Given the description of an element on the screen output the (x, y) to click on. 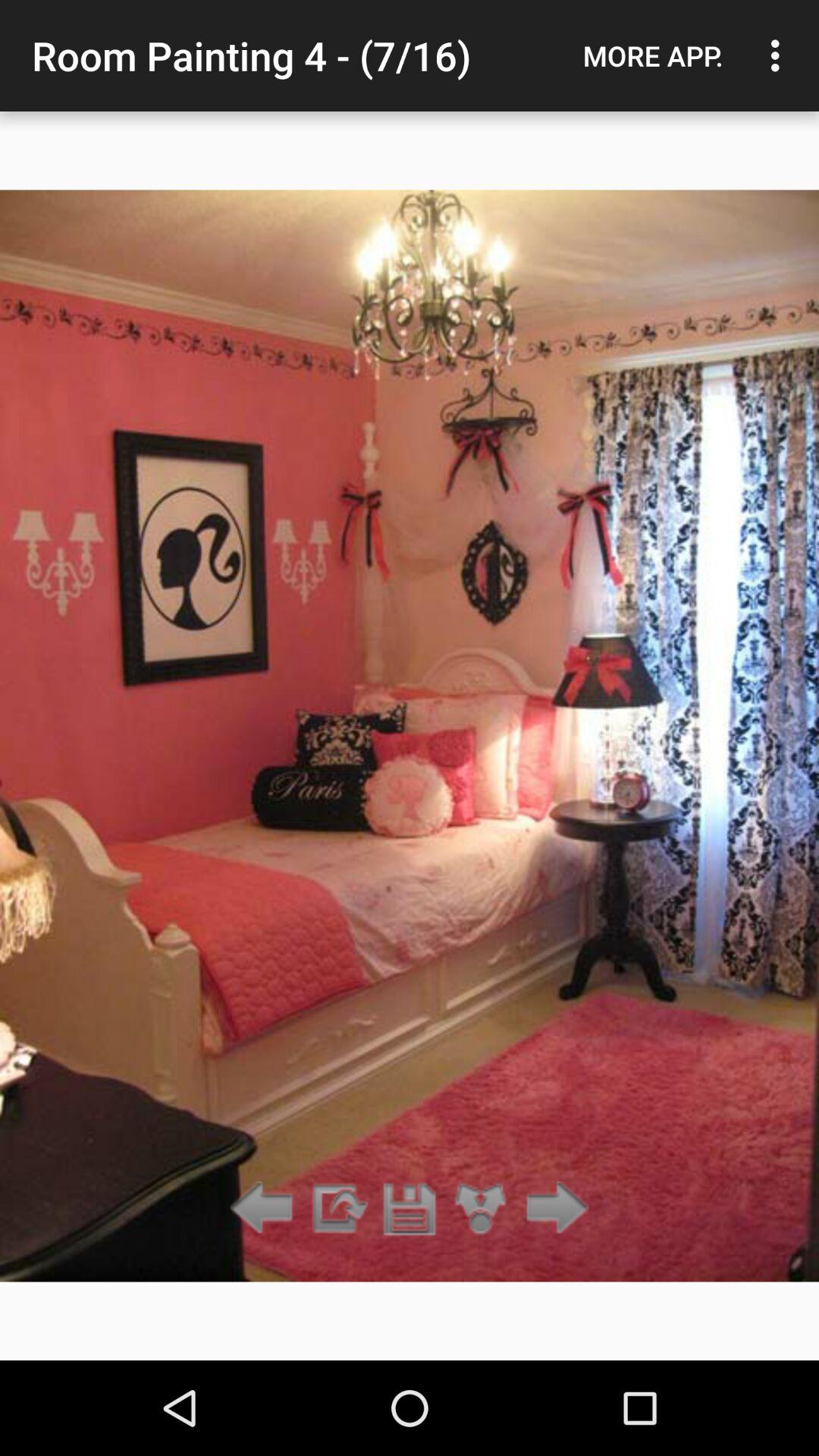
save this (409, 1208)
